Given the description of an element on the screen output the (x, y) to click on. 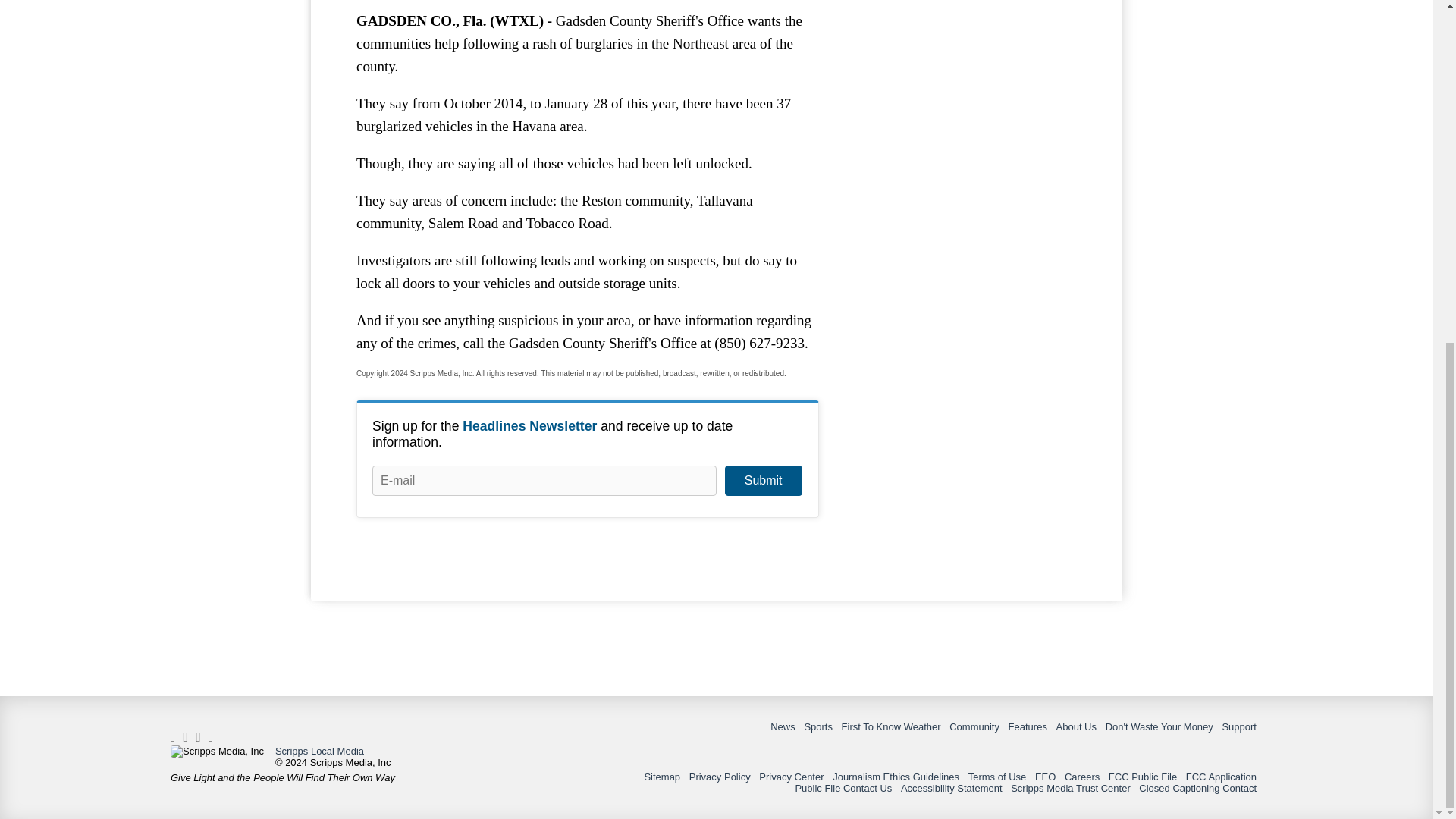
Submit (763, 481)
